Given the description of an element on the screen output the (x, y) to click on. 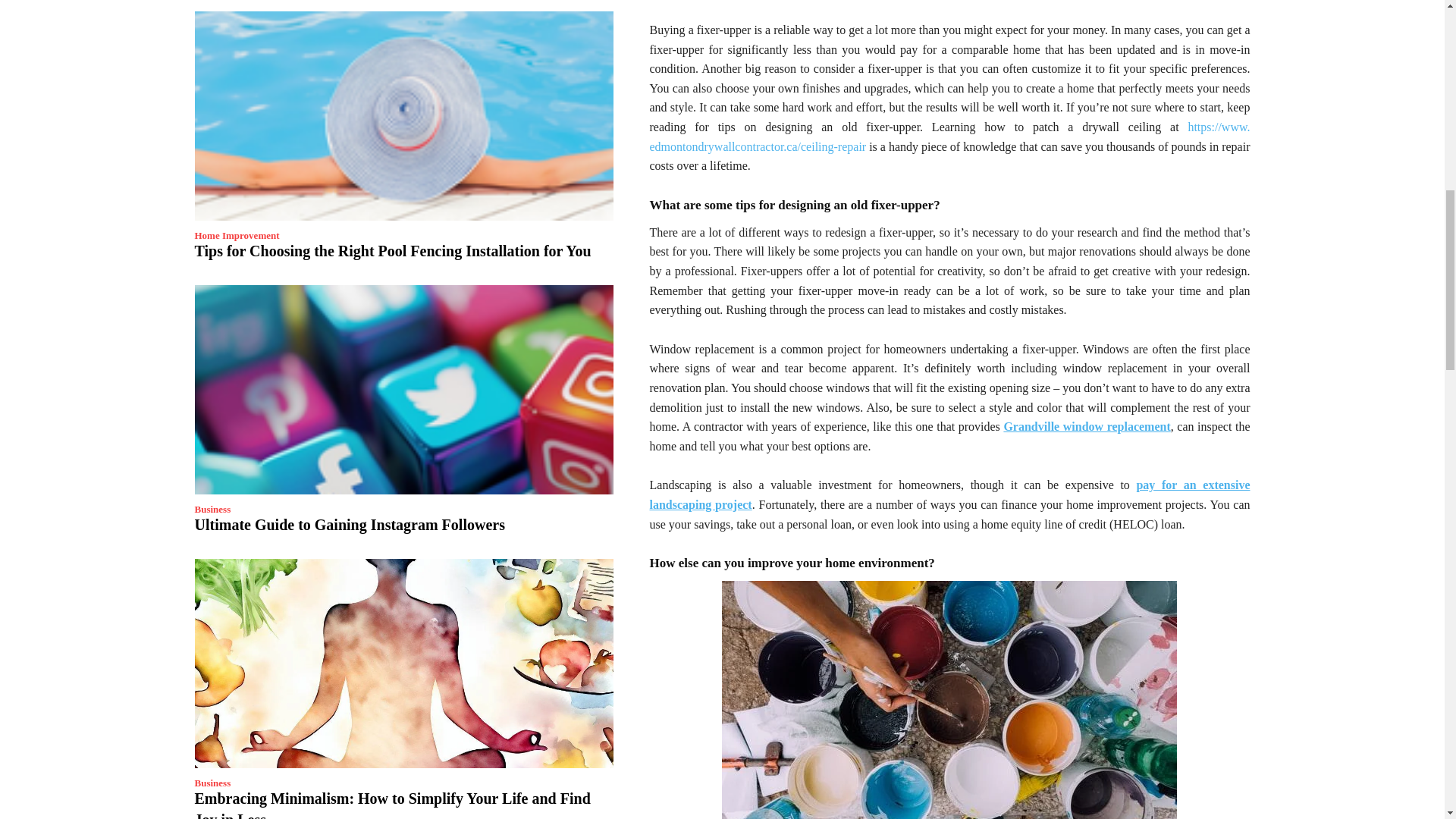
Business (211, 509)
Business (211, 782)
Ultimate Guide to Gaining Instagram Followers (402, 389)
Ultimate Guide to Gaining Instagram Followers (348, 524)
Ultimate Guide to Gaining Instagram Followers (348, 524)
Home Improvement (236, 235)
